Given the description of an element on the screen output the (x, y) to click on. 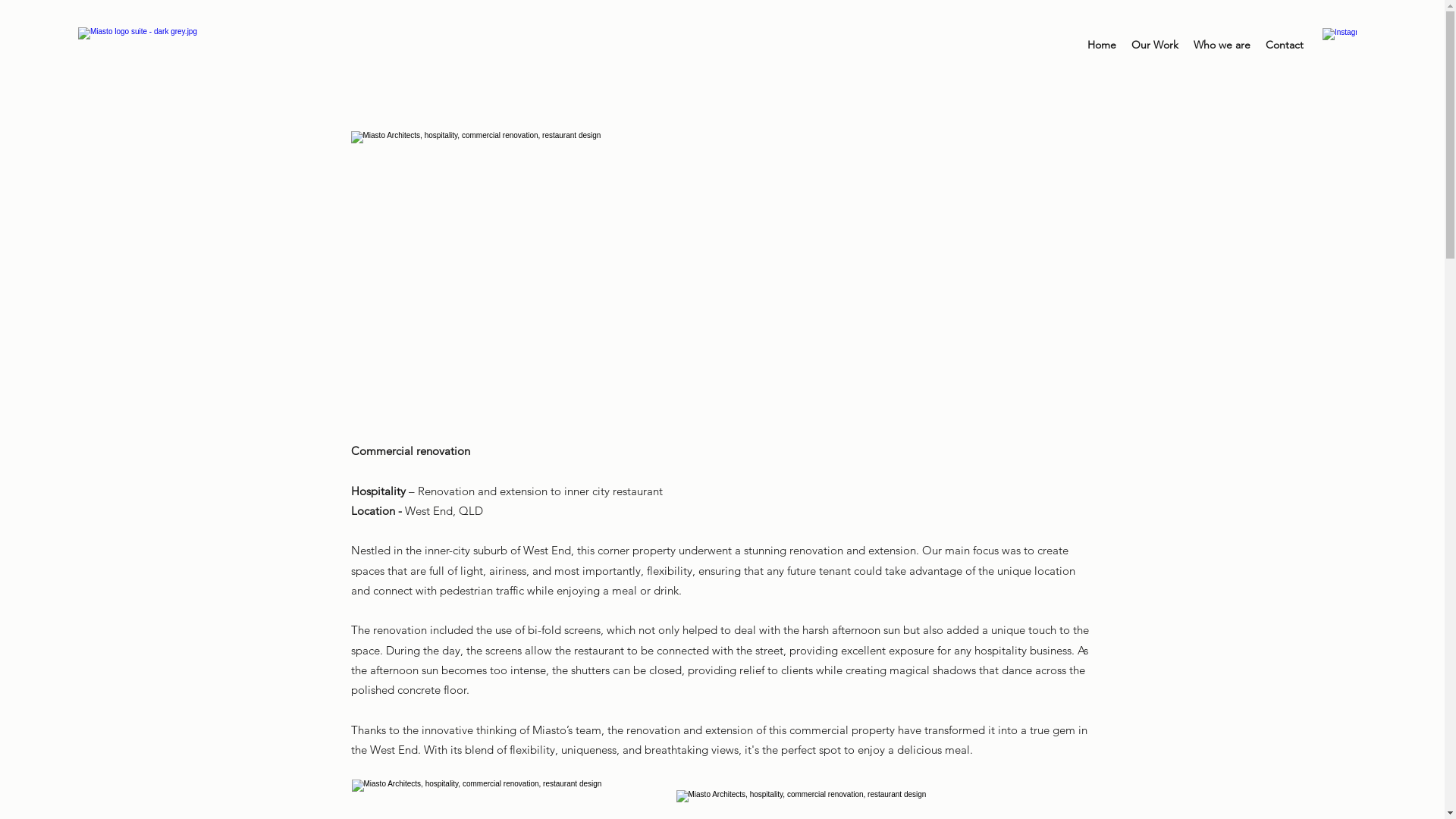
Who we are Element type: text (1222, 45)
Our Work Element type: text (1154, 45)
Contact Element type: text (1284, 45)
Home Element type: text (1101, 45)
